Given the description of an element on the screen output the (x, y) to click on. 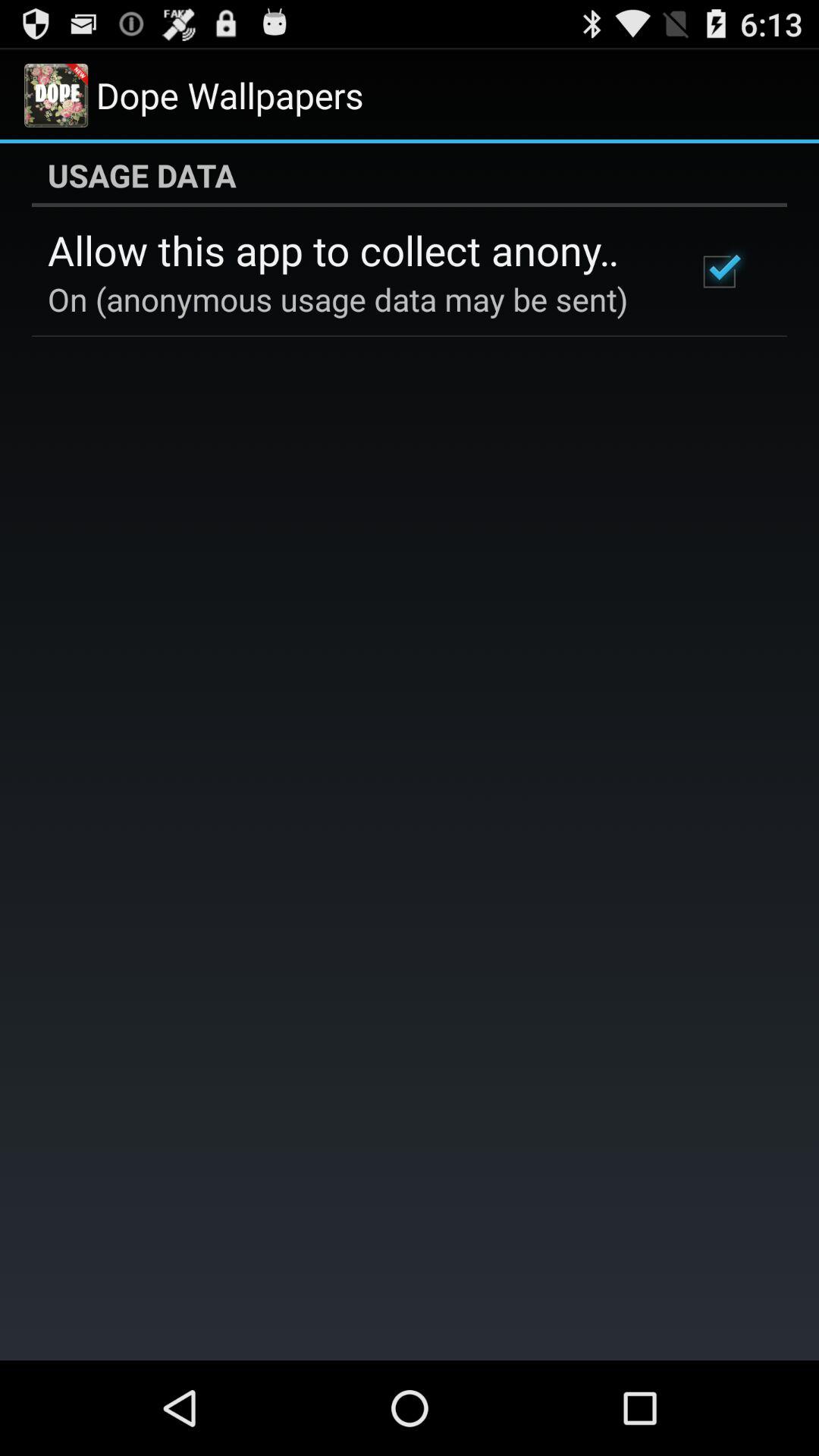
tap icon below the usage data app (719, 271)
